Given the description of an element on the screen output the (x, y) to click on. 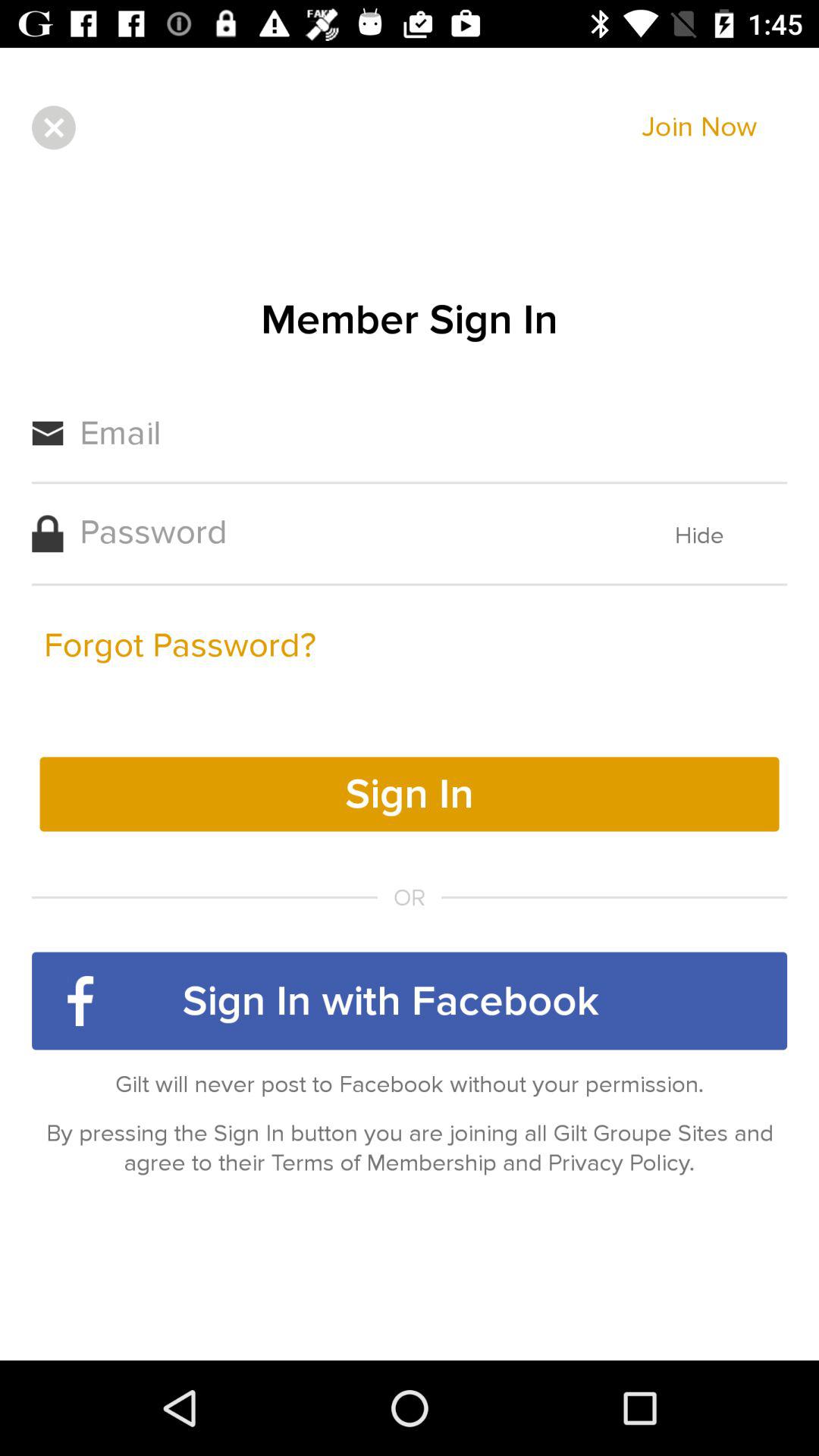
jump until the forgot password? icon (179, 645)
